Given the description of an element on the screen output the (x, y) to click on. 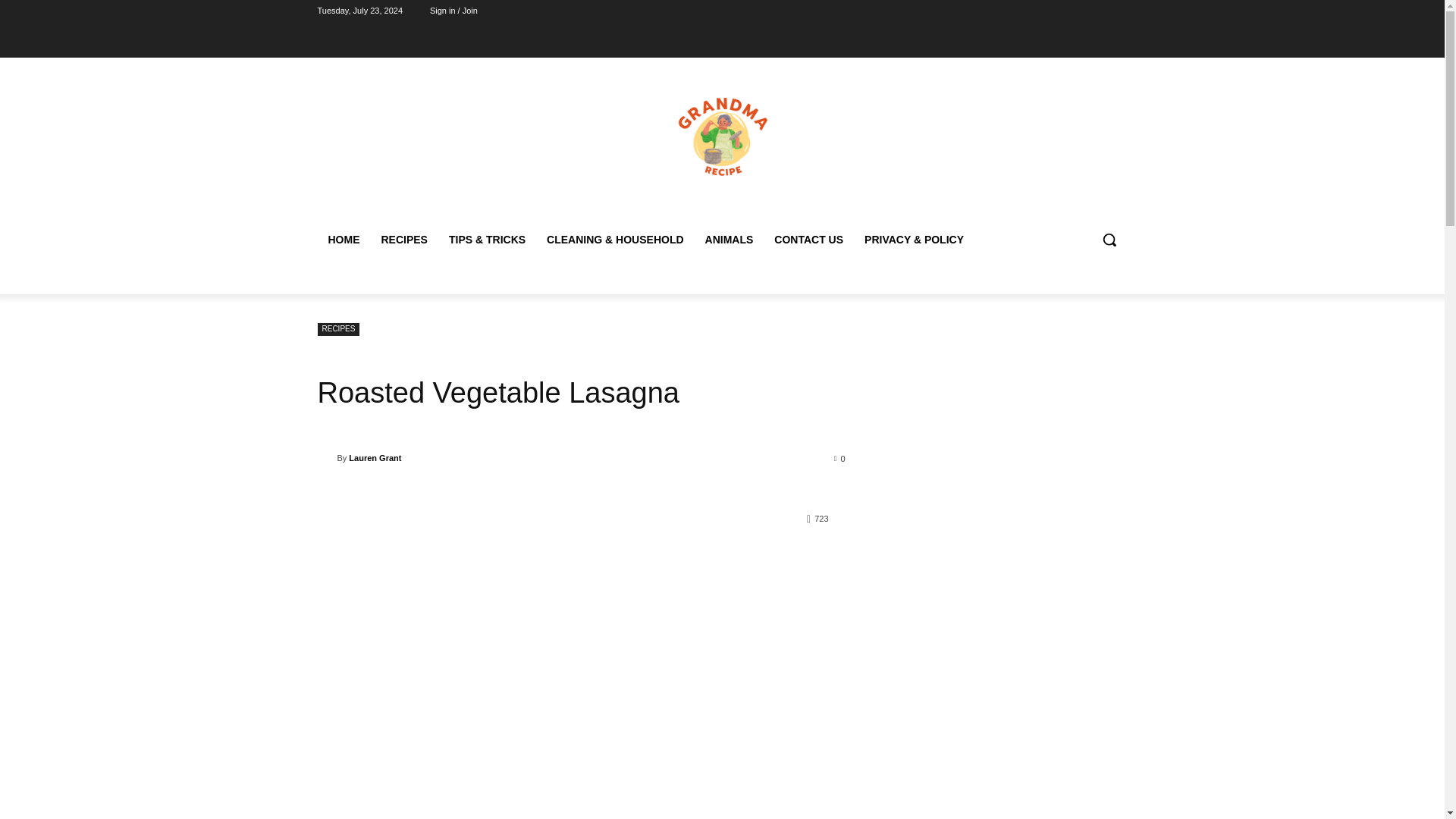
0 (839, 457)
Lauren Grant (326, 458)
Lauren Grant (375, 457)
CONTACT US (807, 239)
RECIPES (403, 239)
ANIMALS (729, 239)
RECIPES (338, 328)
HOME (343, 239)
